Given the description of an element on the screen output the (x, y) to click on. 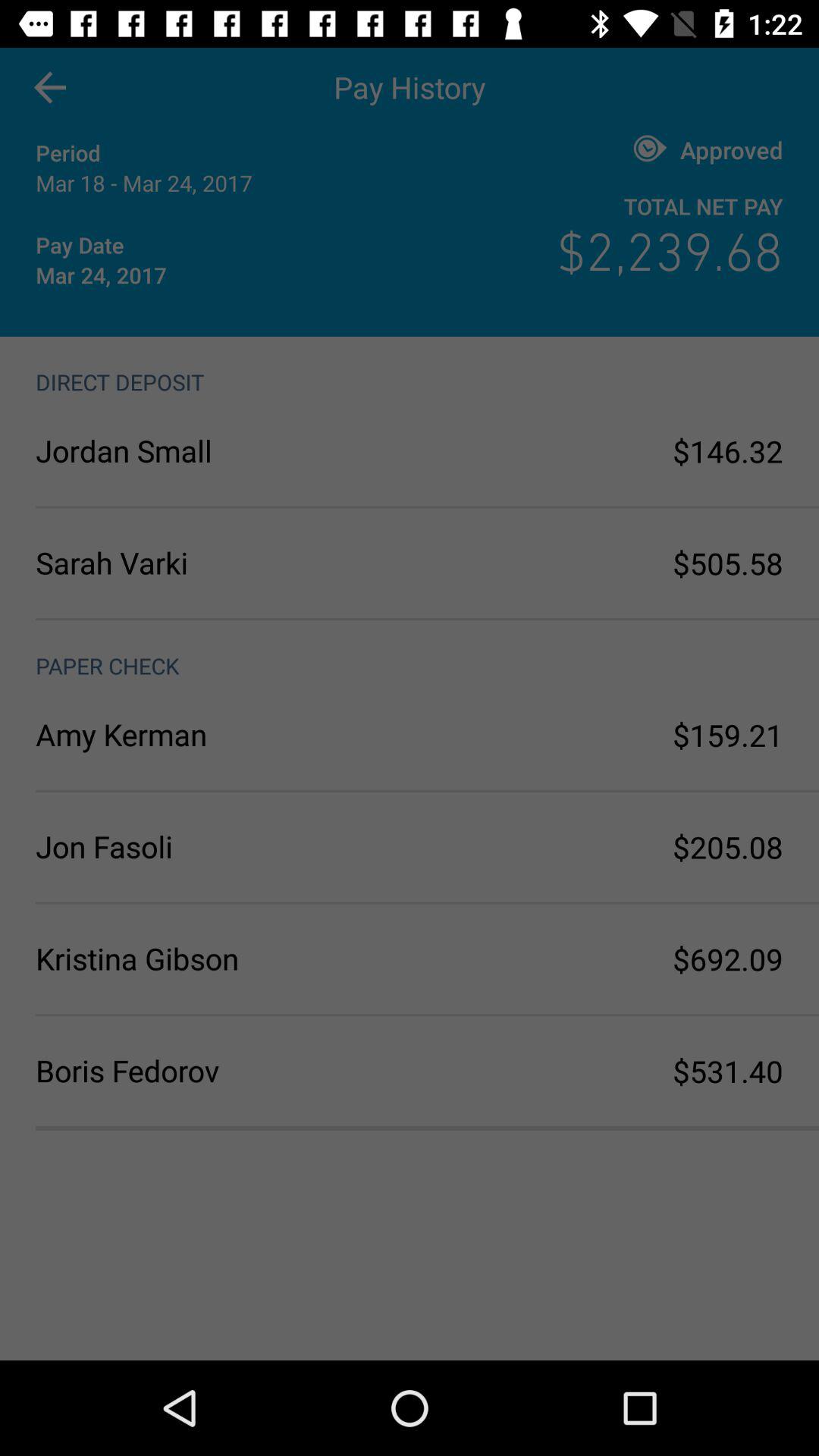
press app next to the sarah varki item (727, 563)
